Given the description of an element on the screen output the (x, y) to click on. 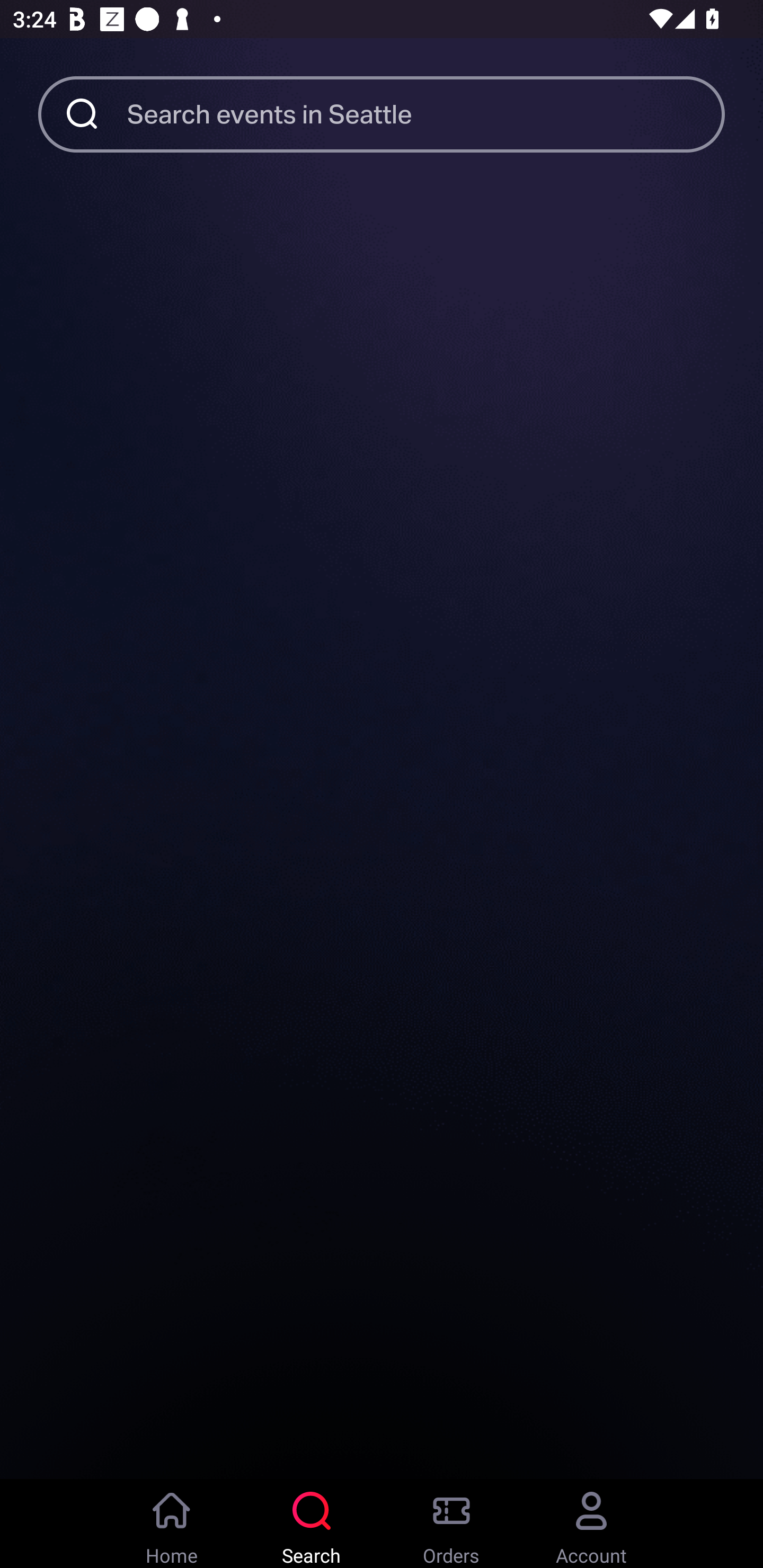
Search events in Seattle (425, 113)
Home (171, 1523)
Orders (451, 1523)
Account (591, 1523)
